Given the description of an element on the screen output the (x, y) to click on. 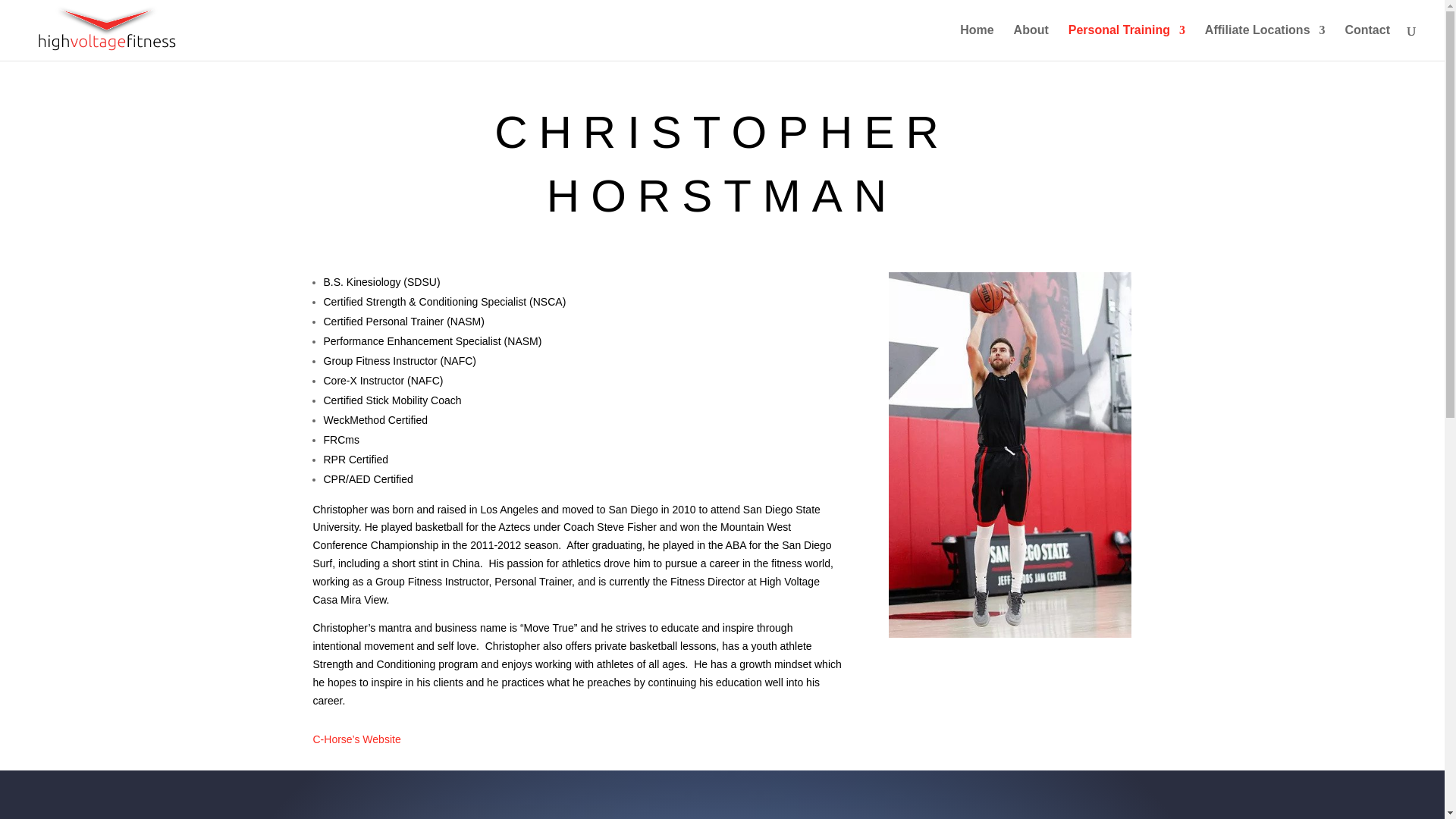
About (1030, 42)
Personal Training (1126, 42)
Home (975, 42)
Contact (1366, 42)
Affiliate Locations (1264, 42)
